Given the description of an element on the screen output the (x, y) to click on. 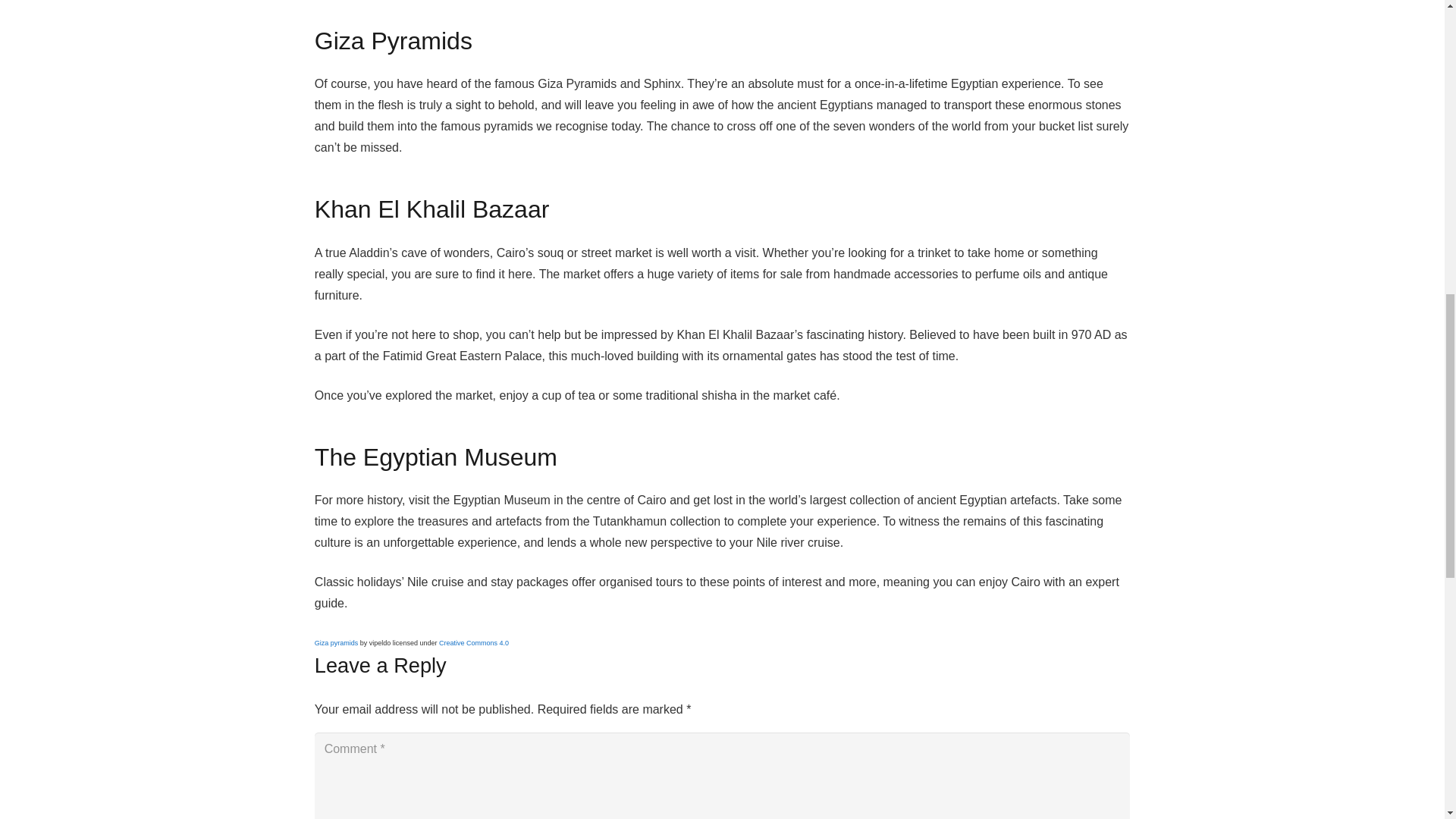
Creative Commons 4.0 (473, 643)
Attribution License (473, 643)
Giza pyramids (336, 643)
